Given the description of an element on the screen output the (x, y) to click on. 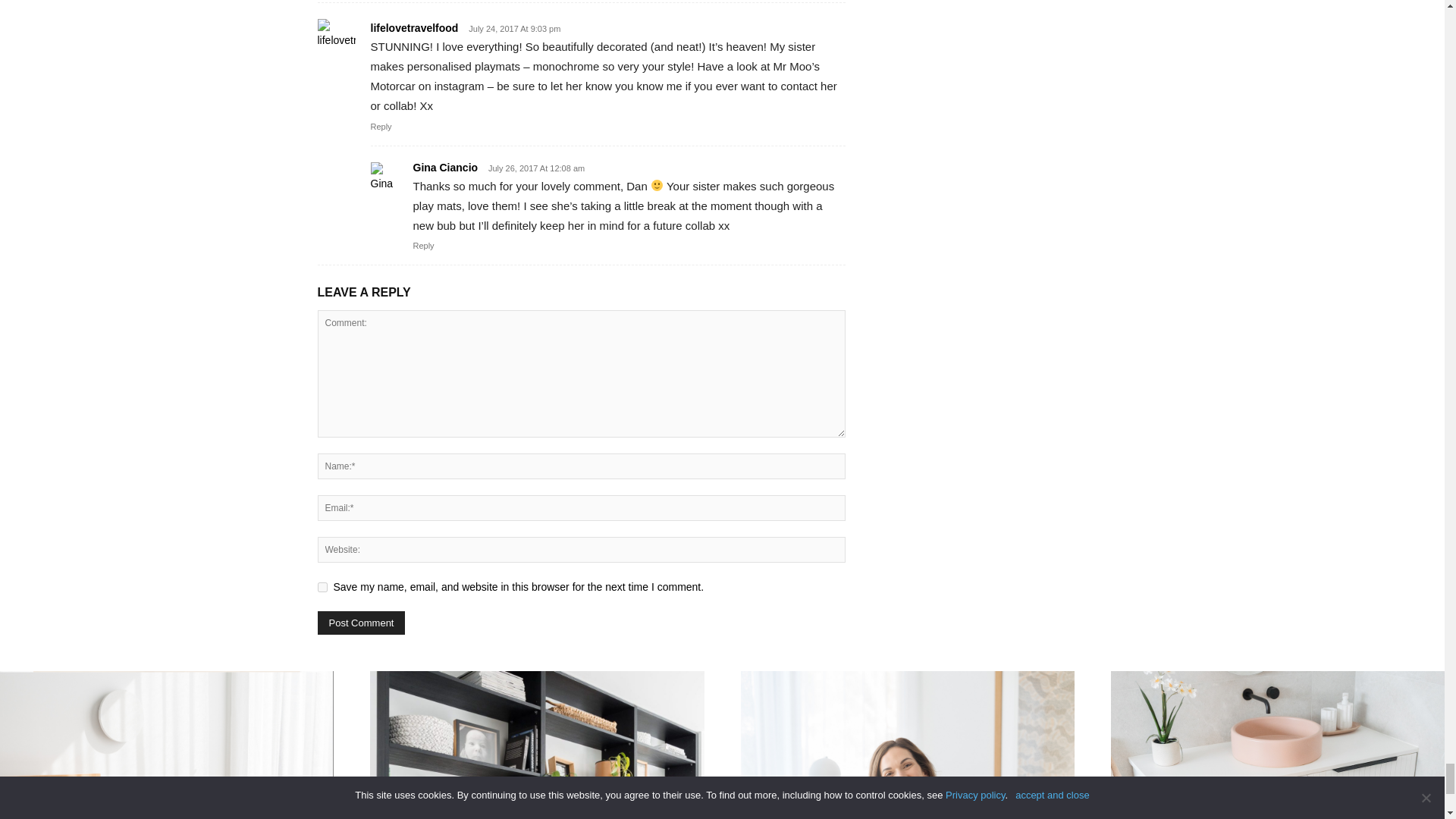
yes (321, 587)
Post Comment (360, 622)
